Given the description of an element on the screen output the (x, y) to click on. 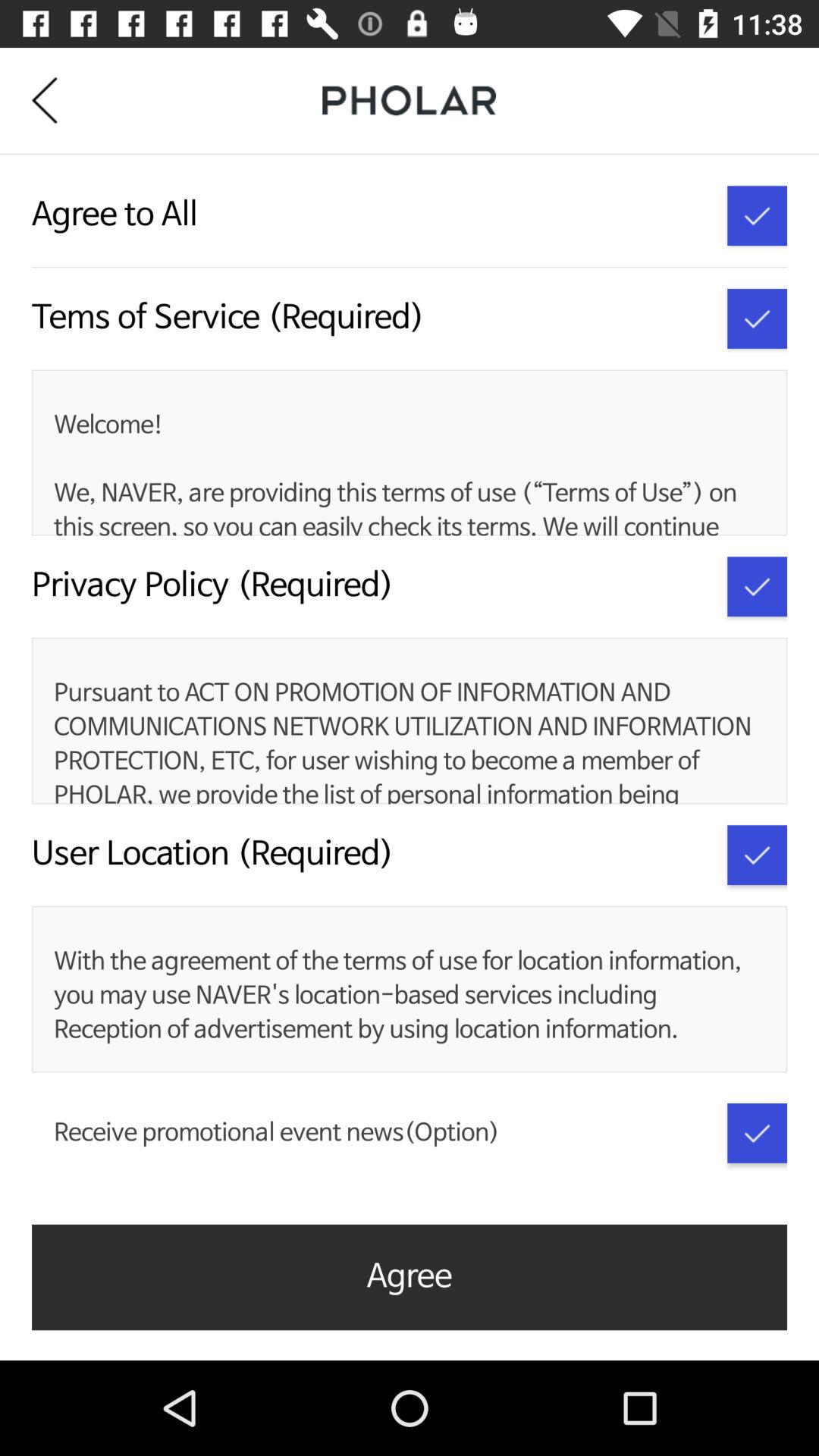
toggle promotional news on (757, 1133)
